Given the description of an element on the screen output the (x, y) to click on. 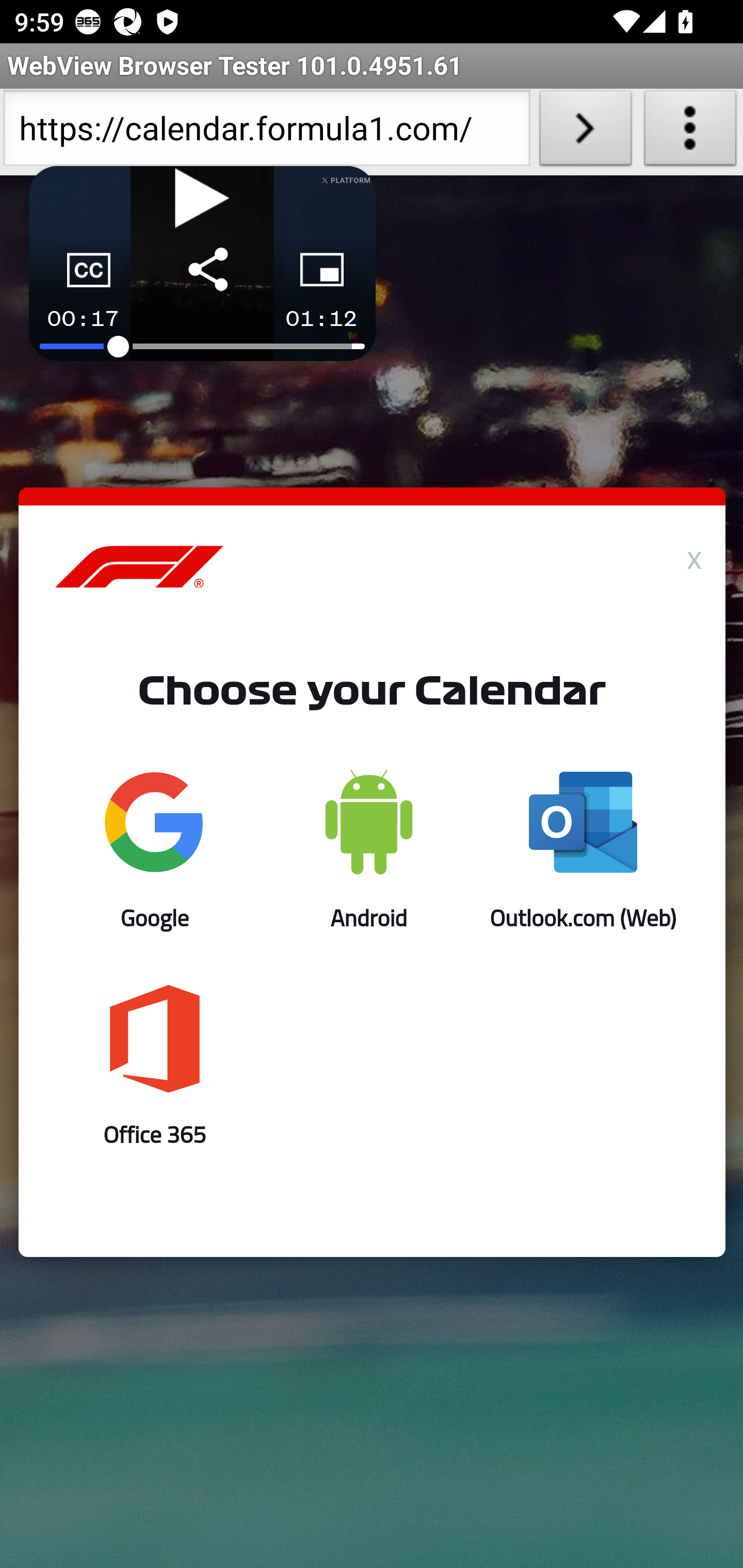
https://calendar.formula1.com/ (266, 132)
Load URL (585, 132)
About WebView (690, 132)
x (694, 556)
Google (154, 849)
Android (368, 849)
Outlook.com (Web) (582, 849)
office365 Office 365 (154, 1066)
